Given the description of an element on the screen output the (x, y) to click on. 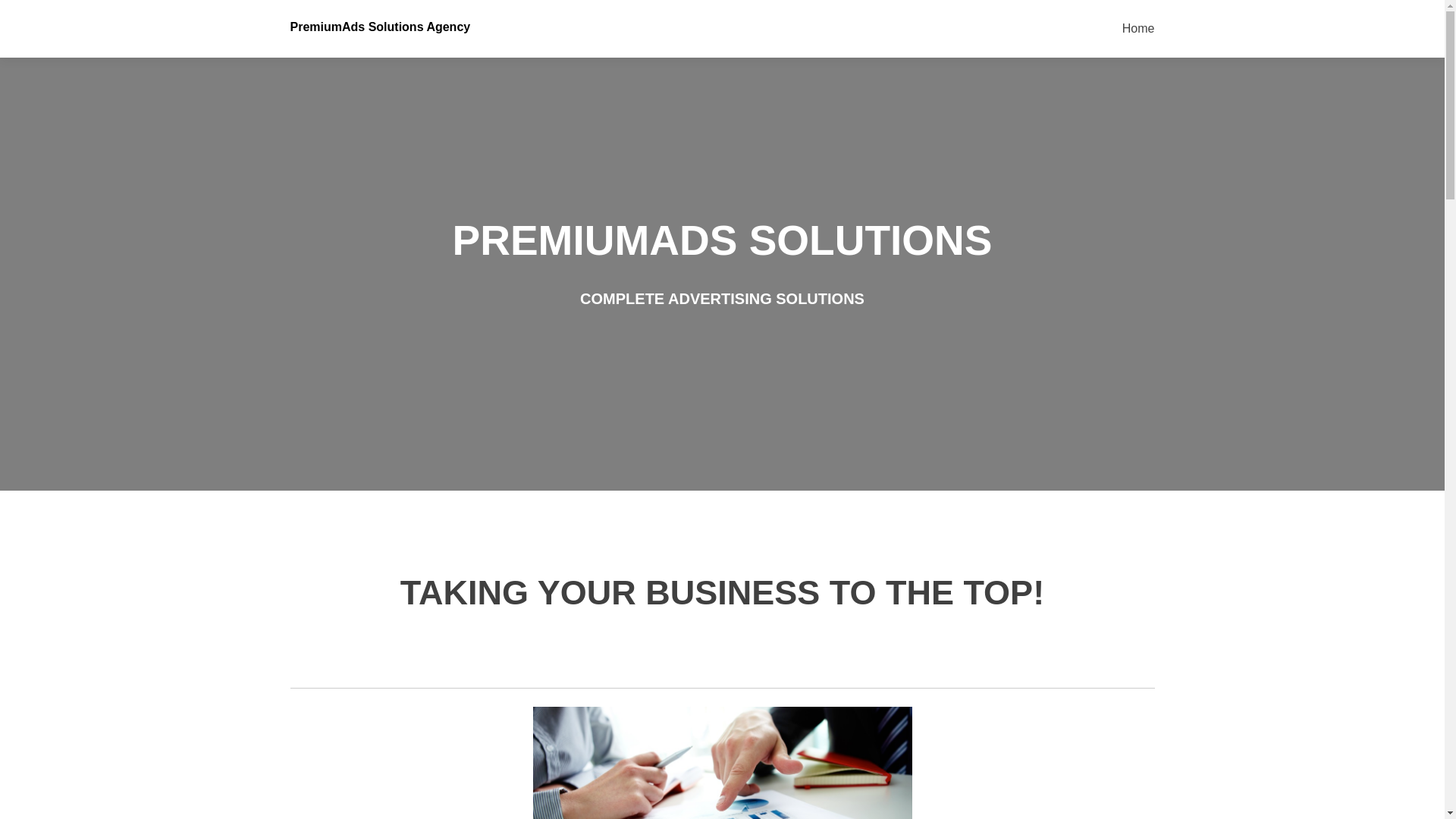
Home (1138, 28)
PremiumAds Solutions Agency (379, 26)
Skip to content (1162, 9)
